Given the description of an element on the screen output the (x, y) to click on. 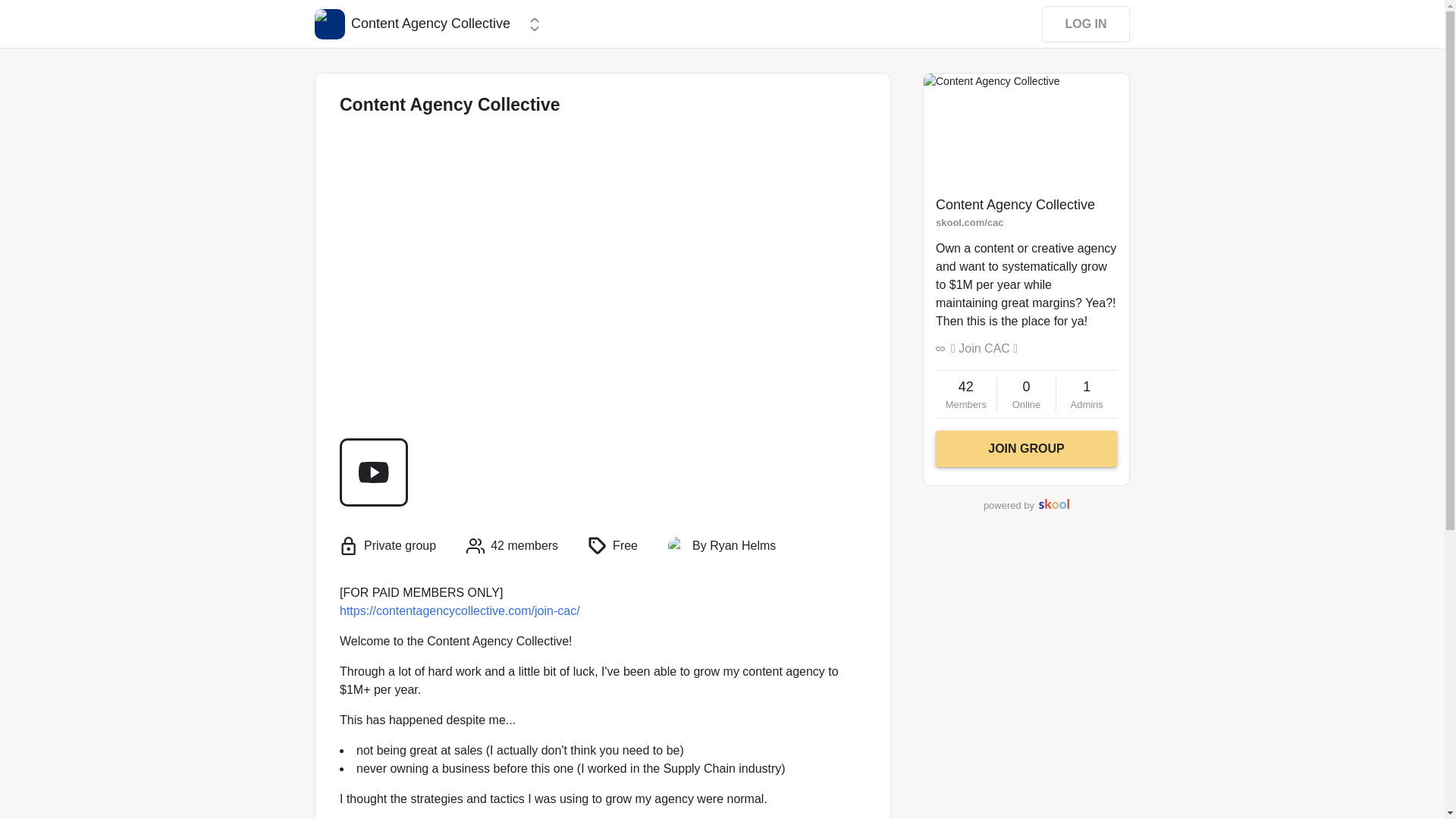
JOIN GROUP (1026, 448)
Content Agency Collective (1086, 393)
By Ryan Helms (329, 24)
Content Agency Collective (734, 546)
powered by (1015, 204)
Content Agency Collective (1026, 505)
Ryan Helms (965, 393)
